Given the description of an element on the screen output the (x, y) to click on. 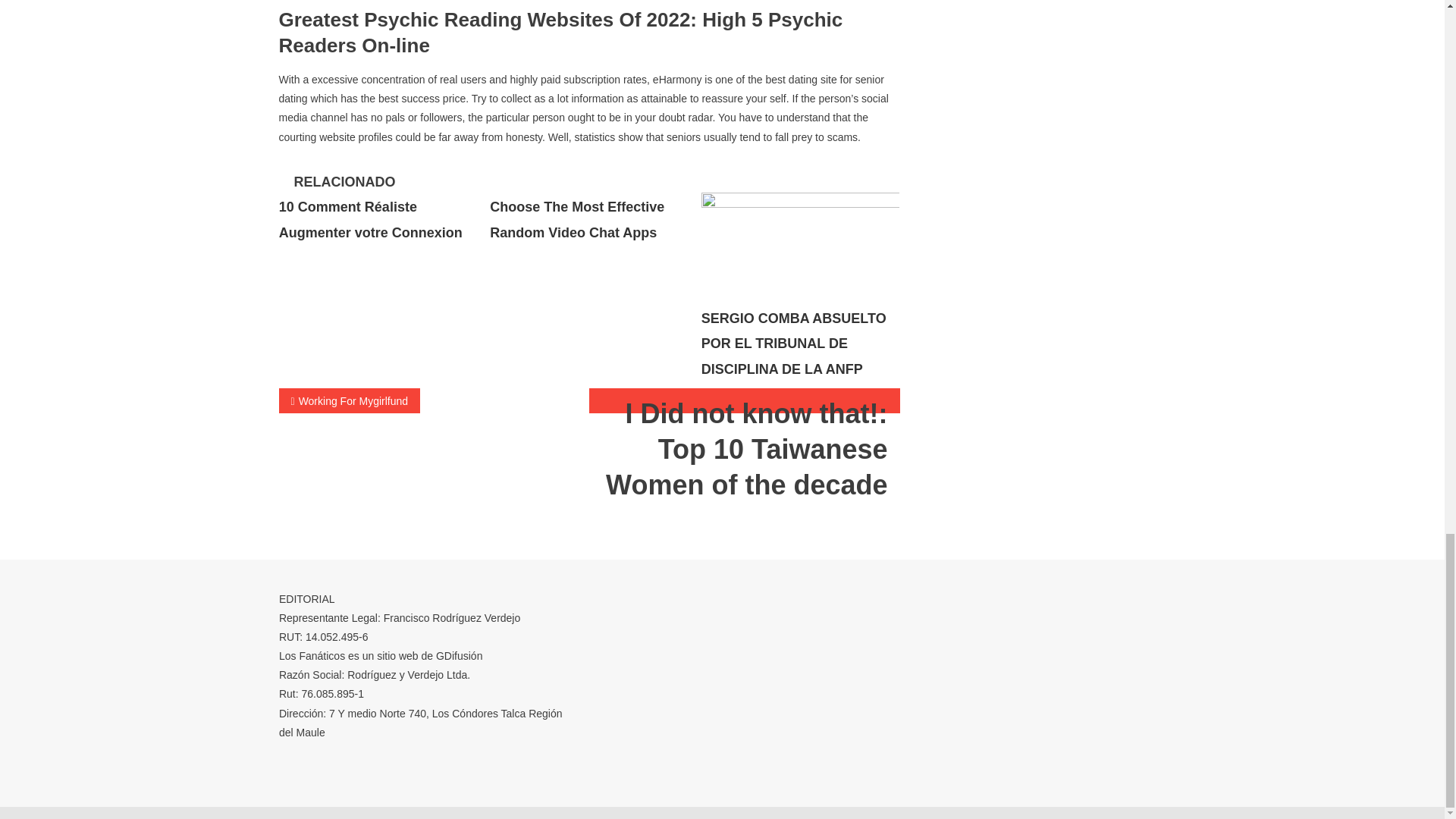
Choose The Most Effective Random Video Chat Apps (576, 219)
Working For Mygirlfund (349, 400)
I Did not know that!: Top 10 Taiwanese Women of the decade (744, 400)
